Given the description of an element on the screen output the (x, y) to click on. 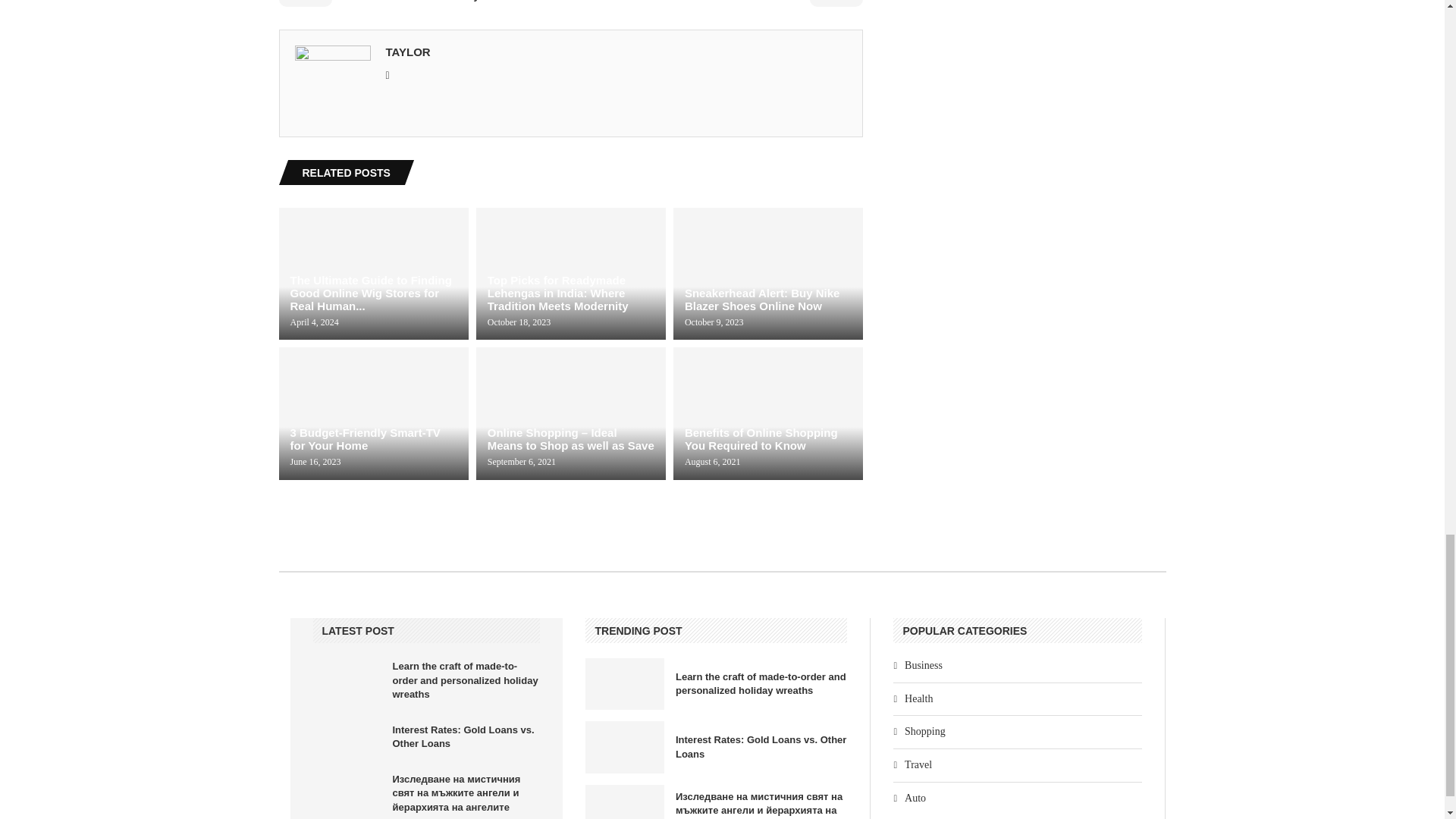
Author Taylor (407, 51)
